Given the description of an element on the screen output the (x, y) to click on. 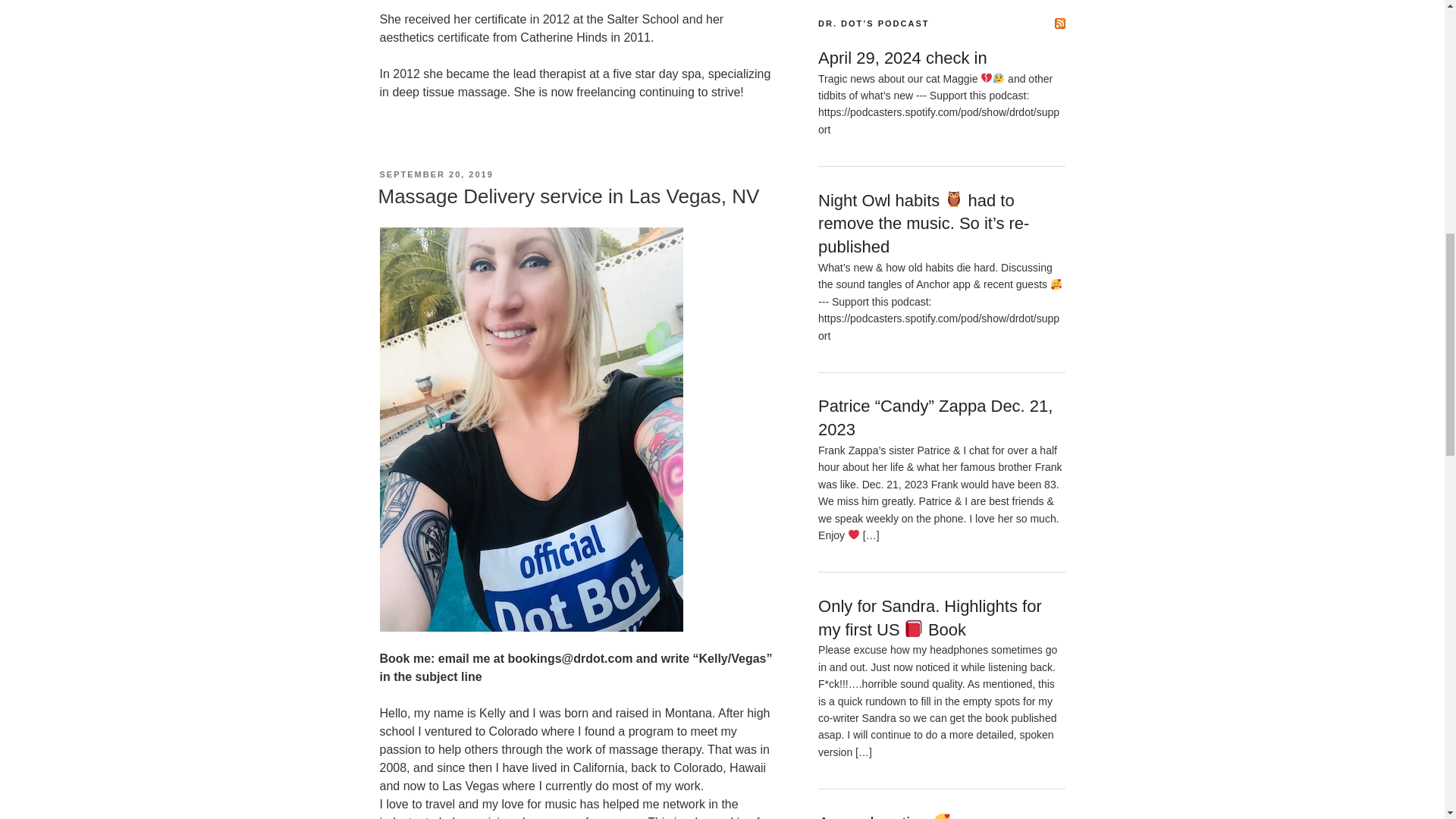
April 29, 2024 check in (902, 57)
Only for Sandra. Highlights for my first US Book (930, 618)
Massage Delivery service in Las Vegas, NV (567, 196)
SEPTEMBER 20, 2019 (435, 174)
An explanation (885, 816)
